Given the description of an element on the screen output the (x, y) to click on. 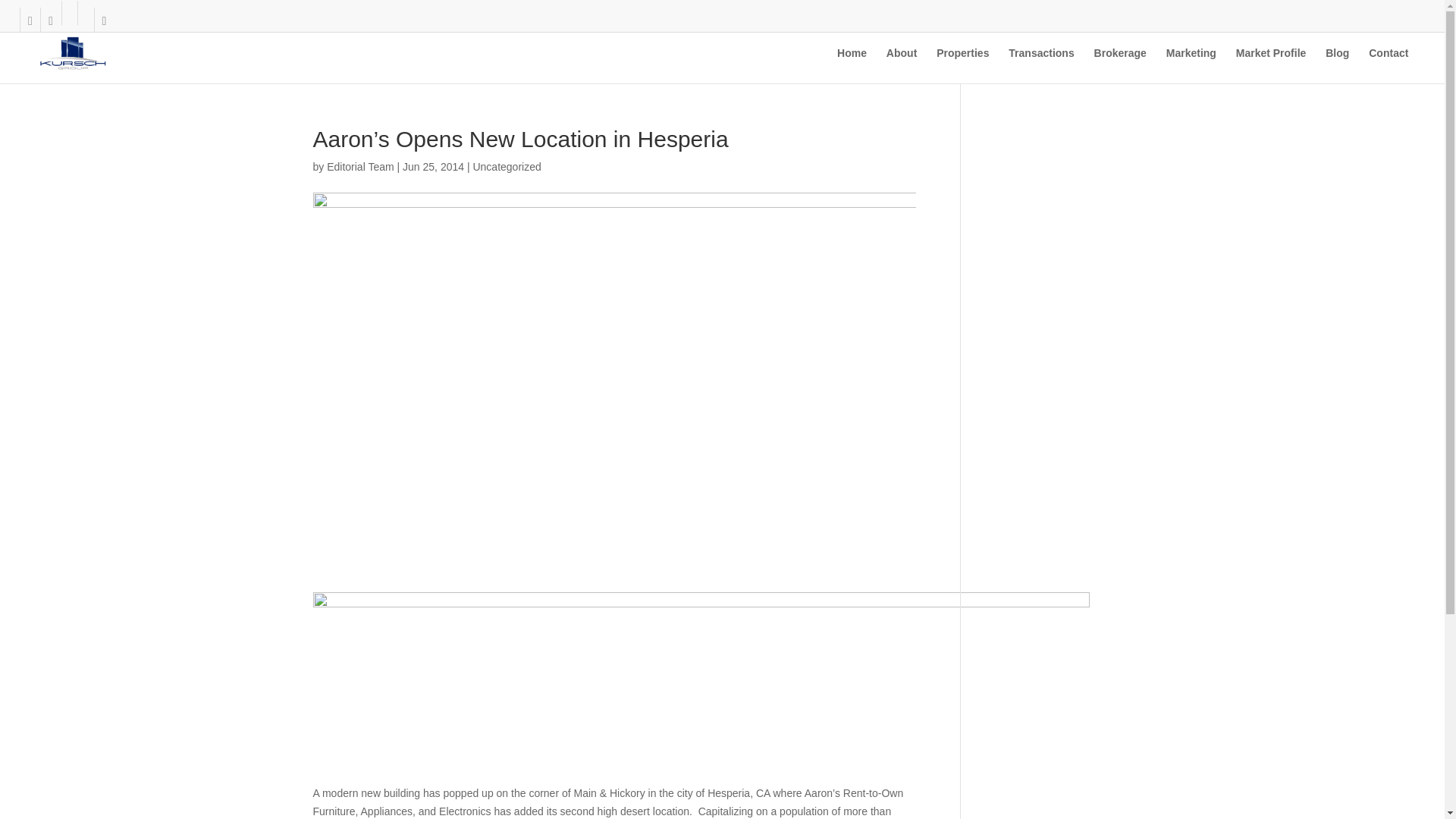
WP Harbor (149, 783)
Properties (962, 65)
Transactions (1041, 65)
Contact (1387, 65)
Posts by Editorial Team (359, 166)
Uncategorized (505, 166)
Market Profile (1271, 65)
Brokerage (1120, 65)
Marketing (1190, 65)
Editorial Team (359, 166)
